Given the description of an element on the screen output the (x, y) to click on. 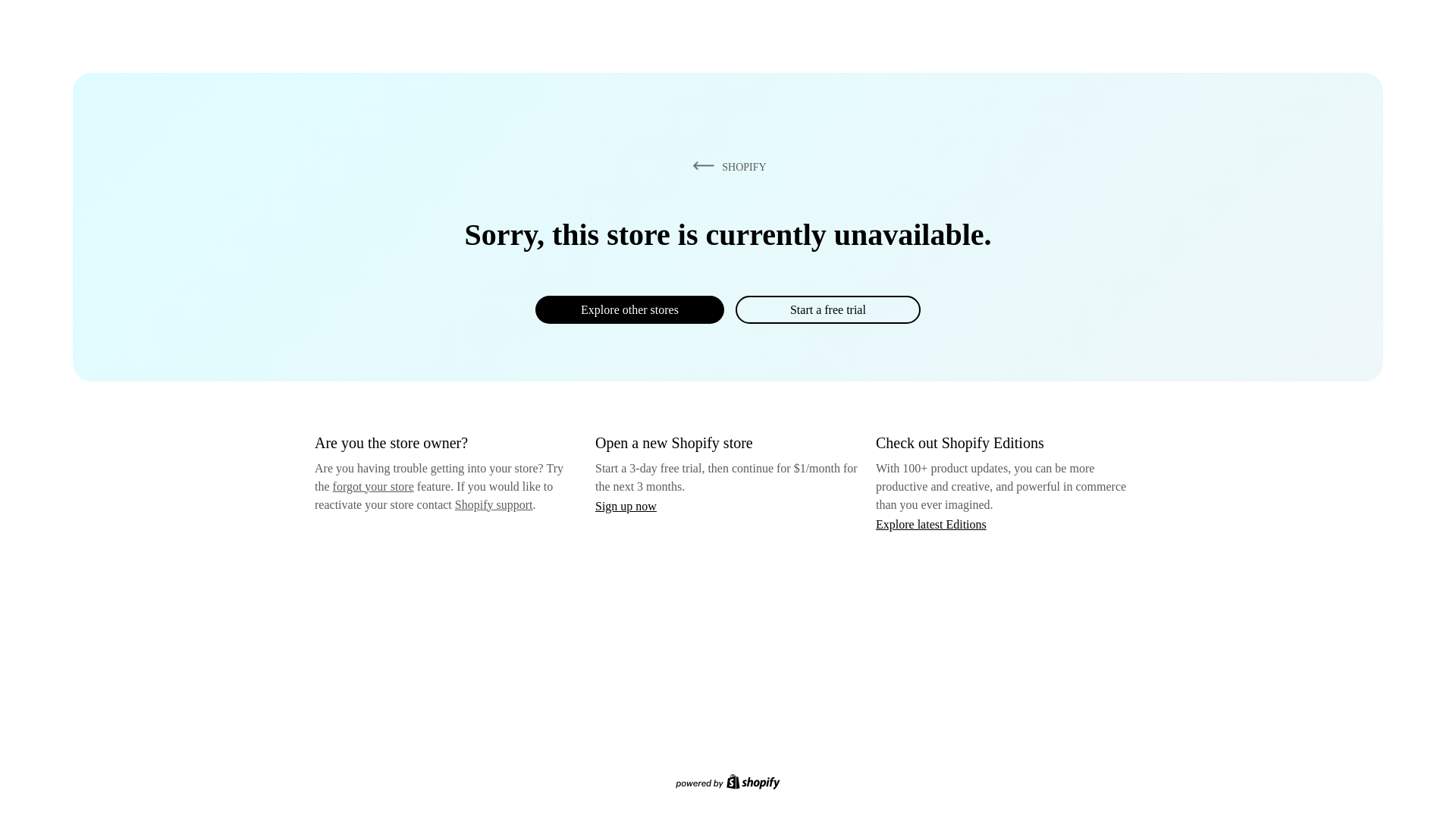
Shopify support (493, 504)
forgot your store (373, 486)
Explore other stores (629, 309)
Sign up now (625, 505)
Explore latest Editions (931, 523)
Start a free trial (827, 309)
SHOPIFY (726, 166)
